Given the description of an element on the screen output the (x, y) to click on. 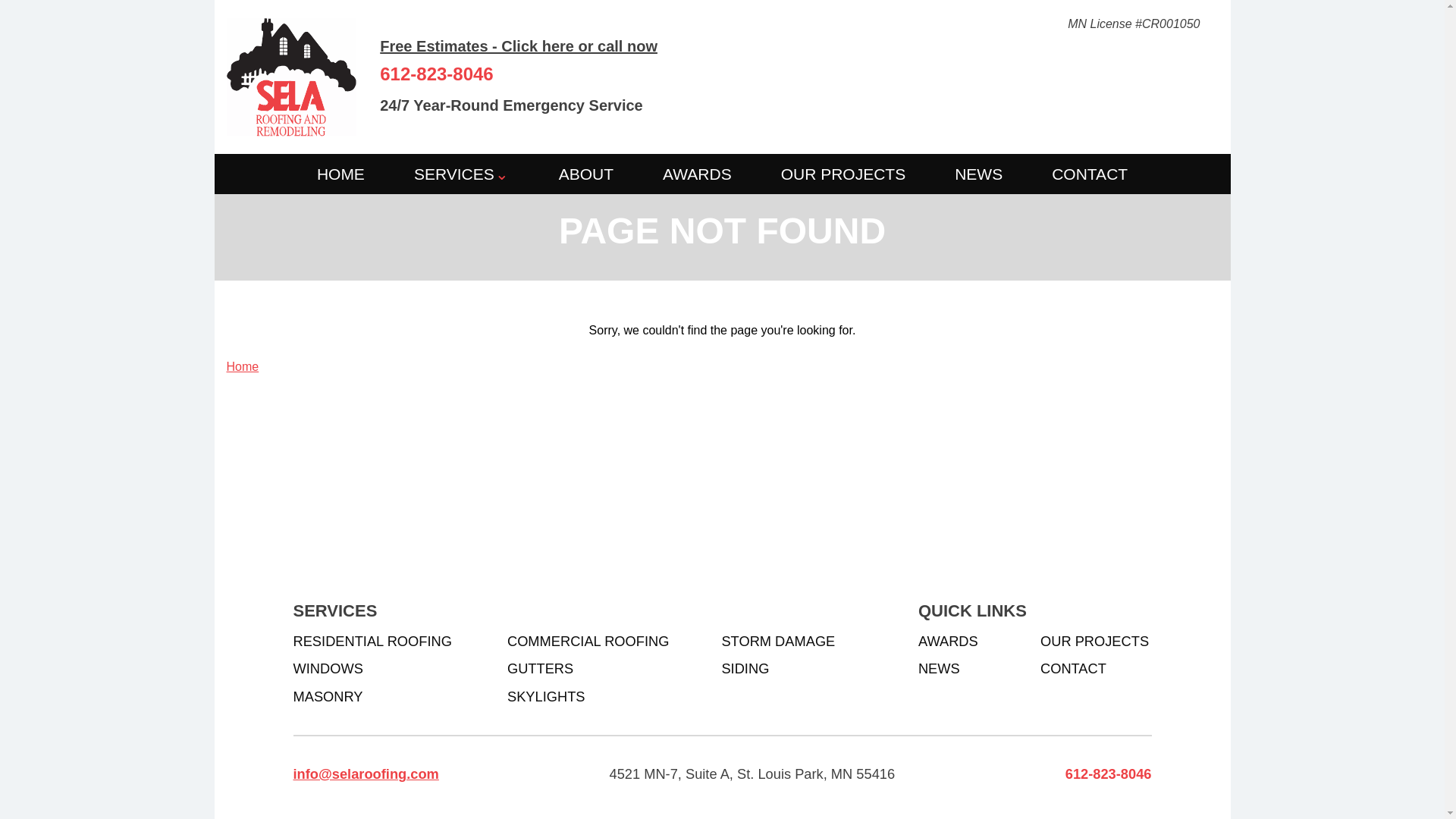
RESIDENTIAL ROOFING (371, 641)
OUR PROJECTS (842, 173)
NEWS (979, 173)
ABOUT (585, 173)
COMMERCIAL ROOFING (587, 641)
Services (502, 173)
CONTACT (1073, 668)
SKYLIGHTS (545, 696)
GUTTERS (539, 668)
WINDOWS (327, 668)
